Given the description of an element on the screen output the (x, y) to click on. 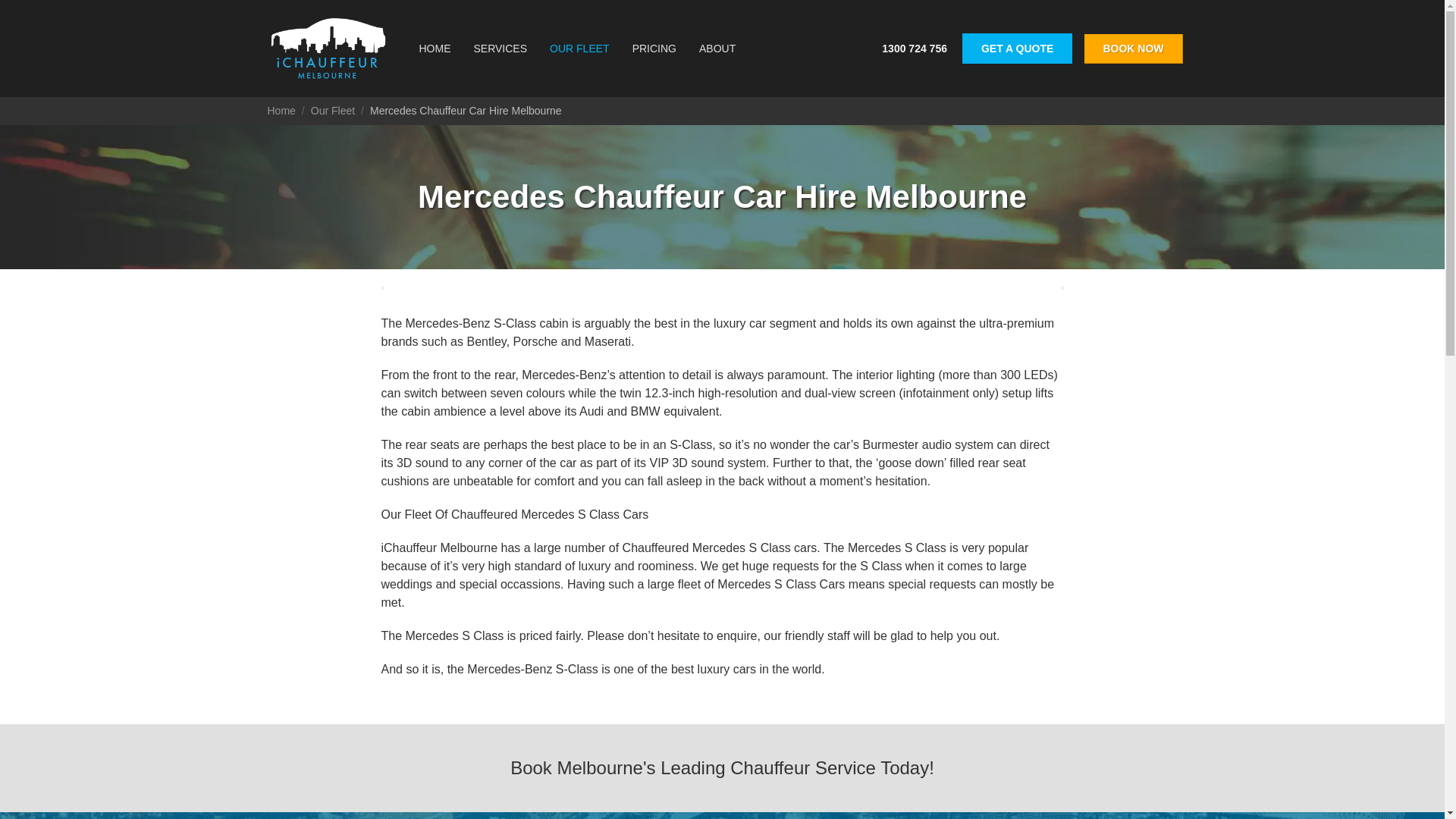
SERVICES Element type: text (500, 48)
Our Fleet Element type: text (332, 111)
Home Element type: text (280, 110)
Mercedes Chauffeur Car Hire Melbourne Element type: text (465, 111)
BOOK NOW Element type: text (1133, 47)
HOME Element type: text (434, 48)
GET A QUOTE Element type: text (1017, 48)
PRICING Element type: text (654, 48)
1300 724 756 Element type: text (914, 48)
ABOUT Element type: text (716, 48)
OUR FLEET Element type: text (579, 48)
